Given the description of an element on the screen output the (x, y) to click on. 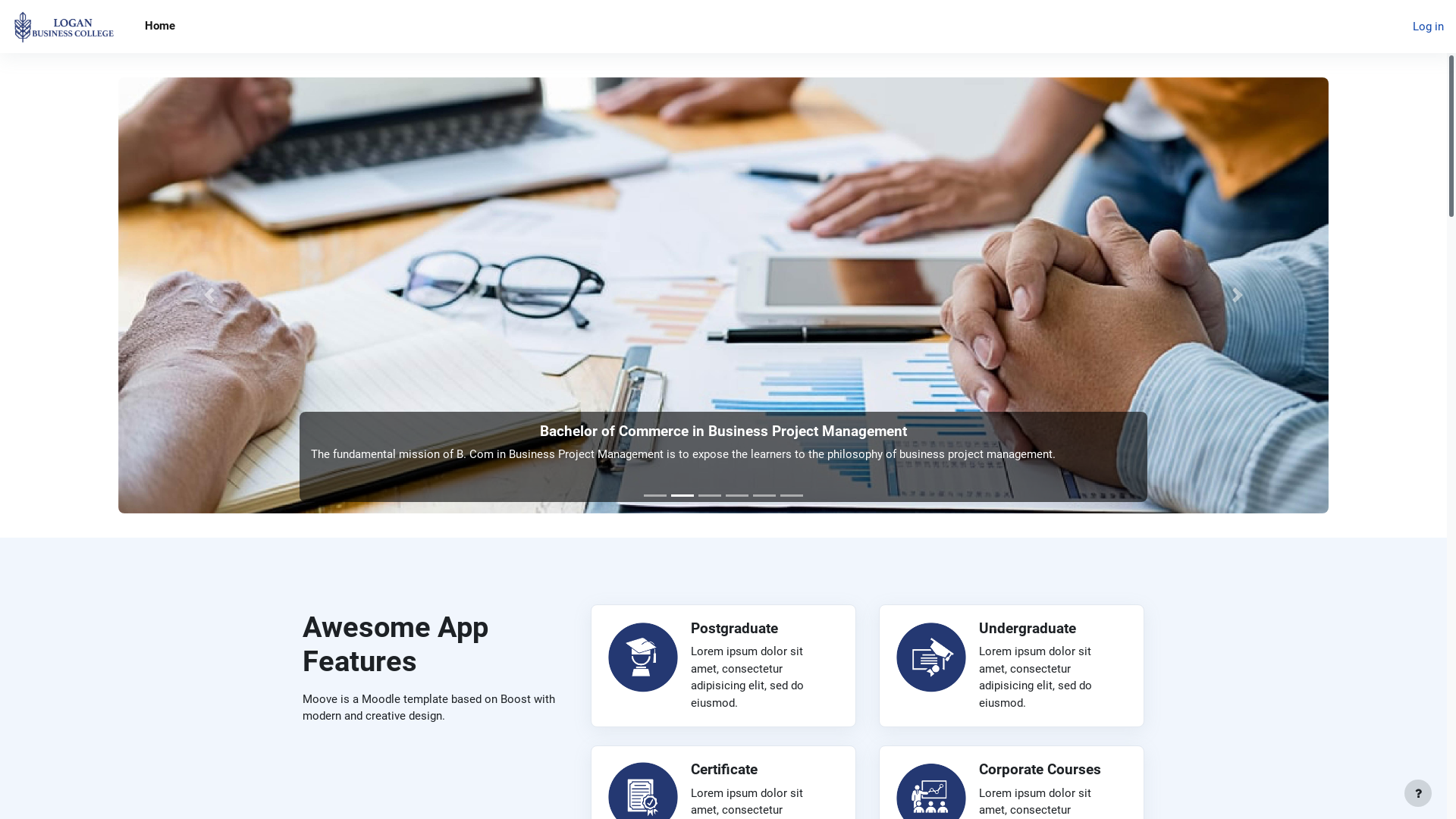
Log in Element type: text (1427, 26)
Next Element type: text (1237, 295)
Home Element type: text (159, 26)
Previous Element type: text (208, 295)
